Given the description of an element on the screen output the (x, y) to click on. 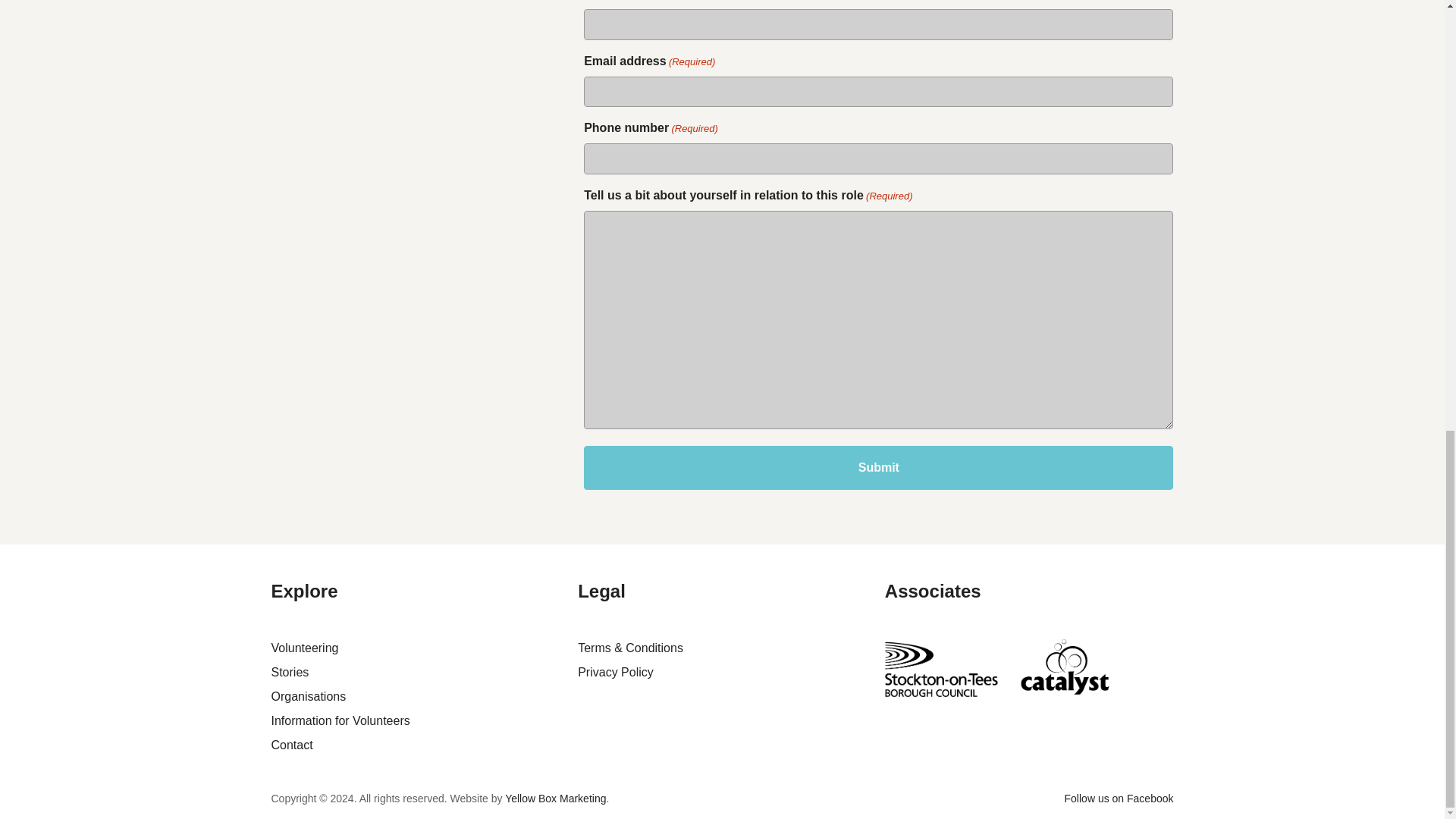
Stories (289, 671)
Privacy Policy (615, 671)
Yellow Box Marketing (555, 798)
Contact (291, 744)
Volunteering (304, 647)
Information for Volunteers (340, 720)
Submit (878, 467)
Follow us on Facebook (1118, 798)
Organisations (308, 696)
